Given the description of an element on the screen output the (x, y) to click on. 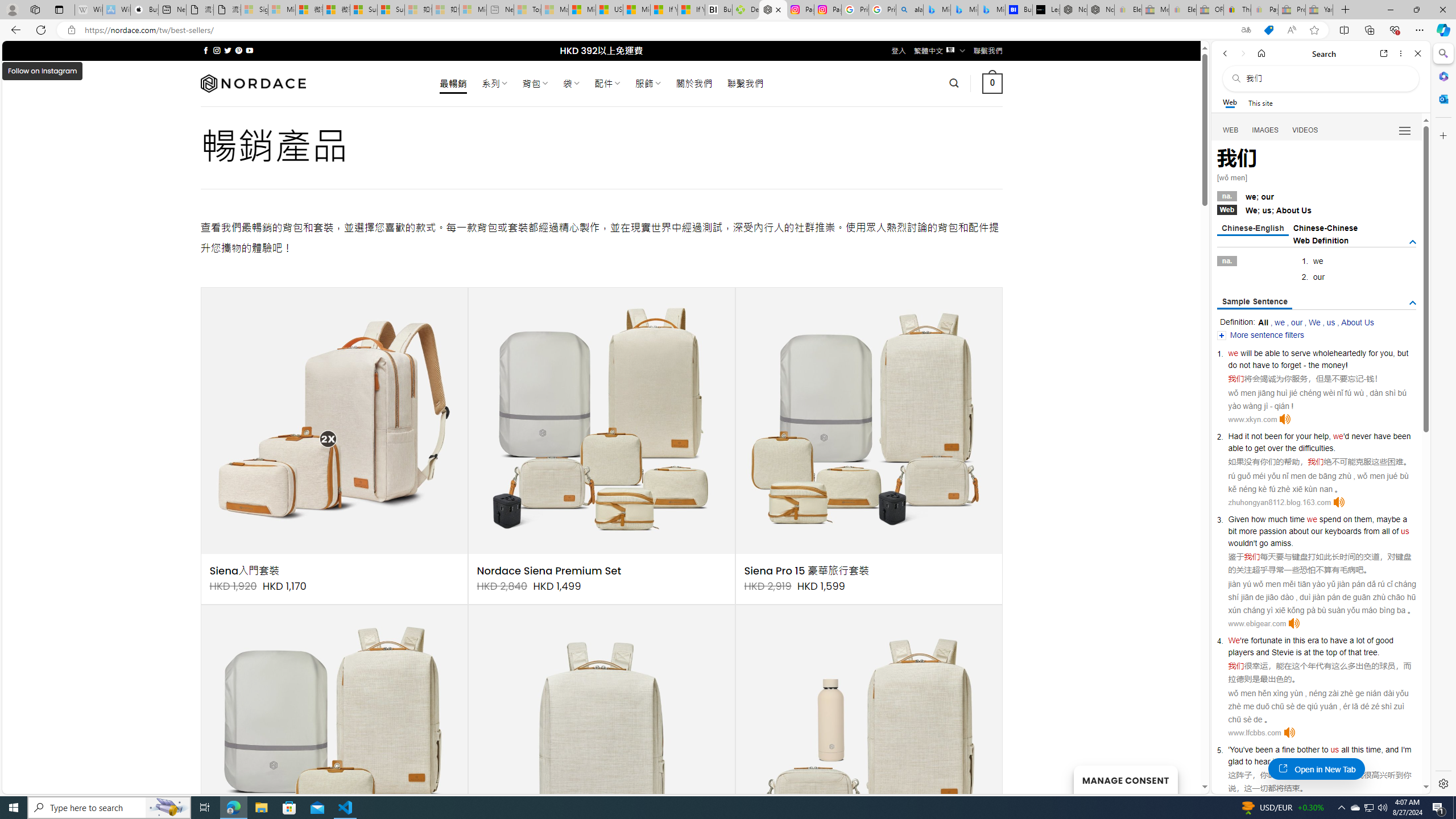
You (1236, 749)
WebWe; us; About Us (1316, 209)
about (1298, 530)
of (1395, 530)
